Given the description of an element on the screen output the (x, y) to click on. 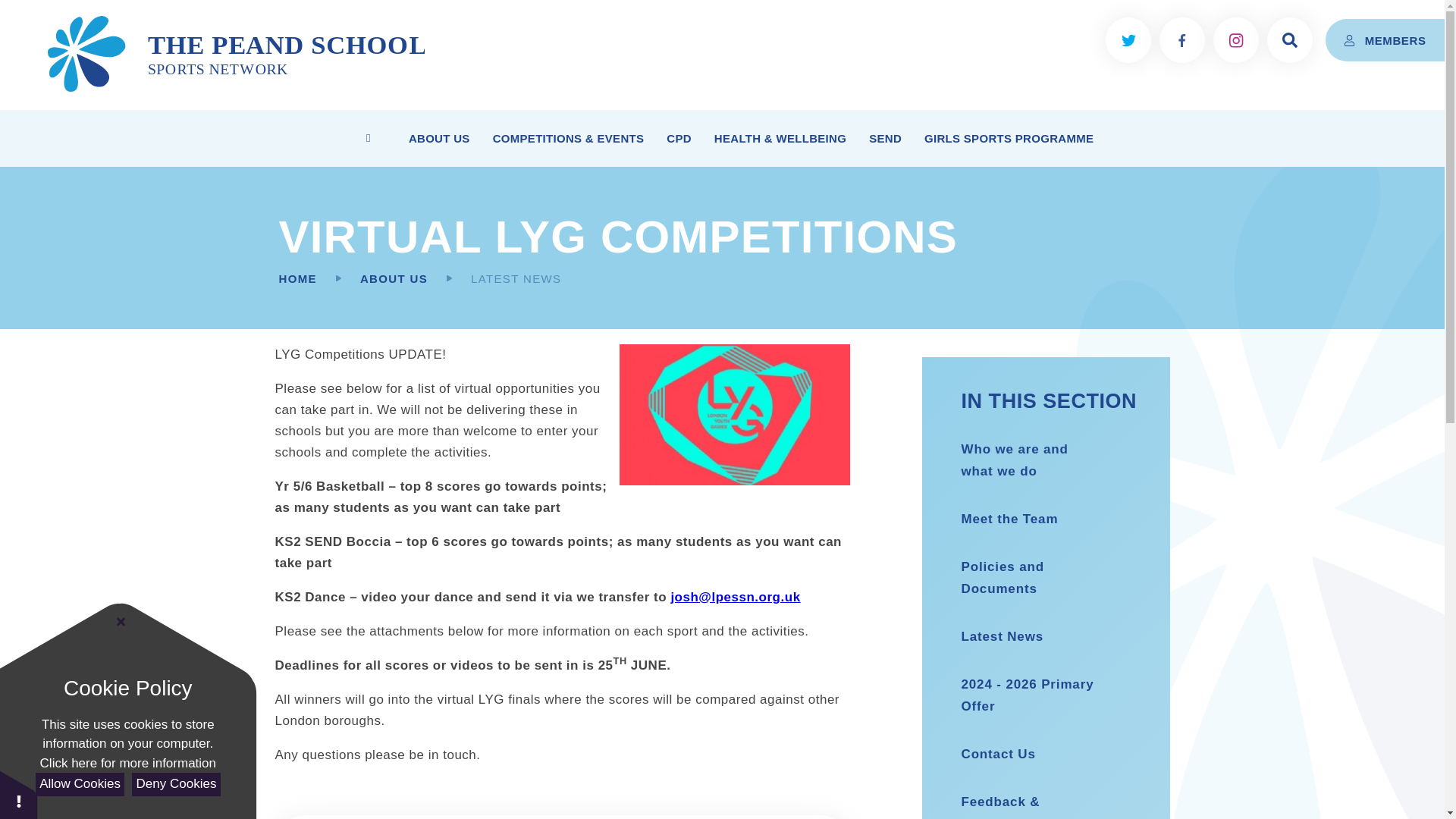
Cookie Settings (18, 794)
Deny Cookies (175, 784)
ABOUT US (439, 138)
Allow Cookies (78, 784)
Search (1289, 40)
See cookie policy (127, 763)
HOME (368, 138)
Search (1194, 40)
